Given the description of an element on the screen output the (x, y) to click on. 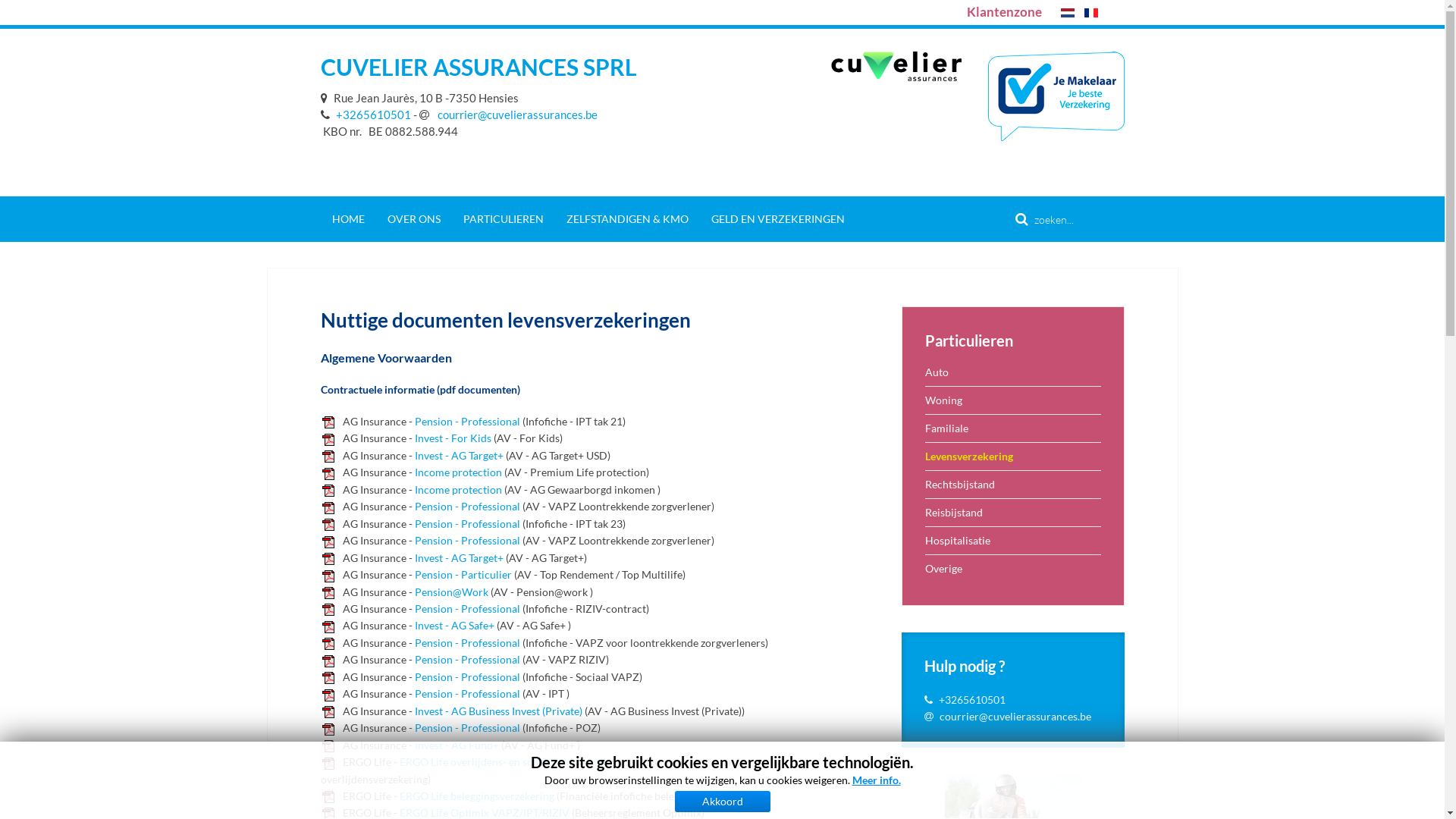
Hospitalisatie Element type: text (1013, 540)
ERGO Life overlijdens- en schuldsaldoverzekering Element type: text (515, 761)
Invest - AG Target+ Element type: text (458, 557)
  +3265610501 Element type: text (365, 114)
ZELFSTANDIGEN & KMO Element type: text (627, 218)
Pension - Professional Element type: text (466, 642)
   courrier@cuvelierassurances.be Element type: text (507, 114)
Pension - Professional Element type: text (466, 608)
Pension - Professional Element type: text (466, 523)
Income protection Element type: text (457, 489)
Woning Element type: text (1013, 399)
Invest - AG Safe+ Element type: text (453, 624)
Pension - Professional Element type: text (466, 727)
Pension - Professional Element type: text (466, 539)
CUVELIER ASSURANCES SPRL Element type: text (478, 66)
Pension - Professional Element type: text (466, 505)
Klantenzone Element type: text (1003, 11)
   Element type: text (326, 97)
PARTICULIEREN Element type: text (503, 218)
Pension - Particulier Element type: text (462, 573)
Invest - AG Business Invest (Private) Element type: text (497, 710)
GELD EN VERZEKERINGEN Element type: text (777, 218)
OVER ONS Element type: text (413, 218)
Pension - Professional Element type: text (466, 658)
Nederlands Element type: hover (1066, 12)
ERGO Life beleggingsverzekering Element type: text (475, 795)
courrier@cuvelierassurances.be Element type: text (1015, 715)
Rechtsbijstand Element type: text (1013, 484)
Pension - Professional Element type: text (466, 420)
Invest - For Kids Element type: text (452, 437)
HOME Element type: text (347, 218)
Levensverzekering Element type: text (1013, 456)
Reisbijstand Element type: text (1013, 512)
Pension - Professional Element type: text (466, 693)
Overige Element type: text (1013, 568)
Invest - AG Target+ Element type: text (458, 454)
Pension - Professional Element type: text (466, 676)
Income protection Element type: text (457, 471)
Auto Element type: text (1013, 371)
Invest - AG Fund+ Element type: text (456, 744)
Pension@Work Element type: text (450, 591)
Familiale Element type: text (1013, 428)
